Given the description of an element on the screen output the (x, y) to click on. 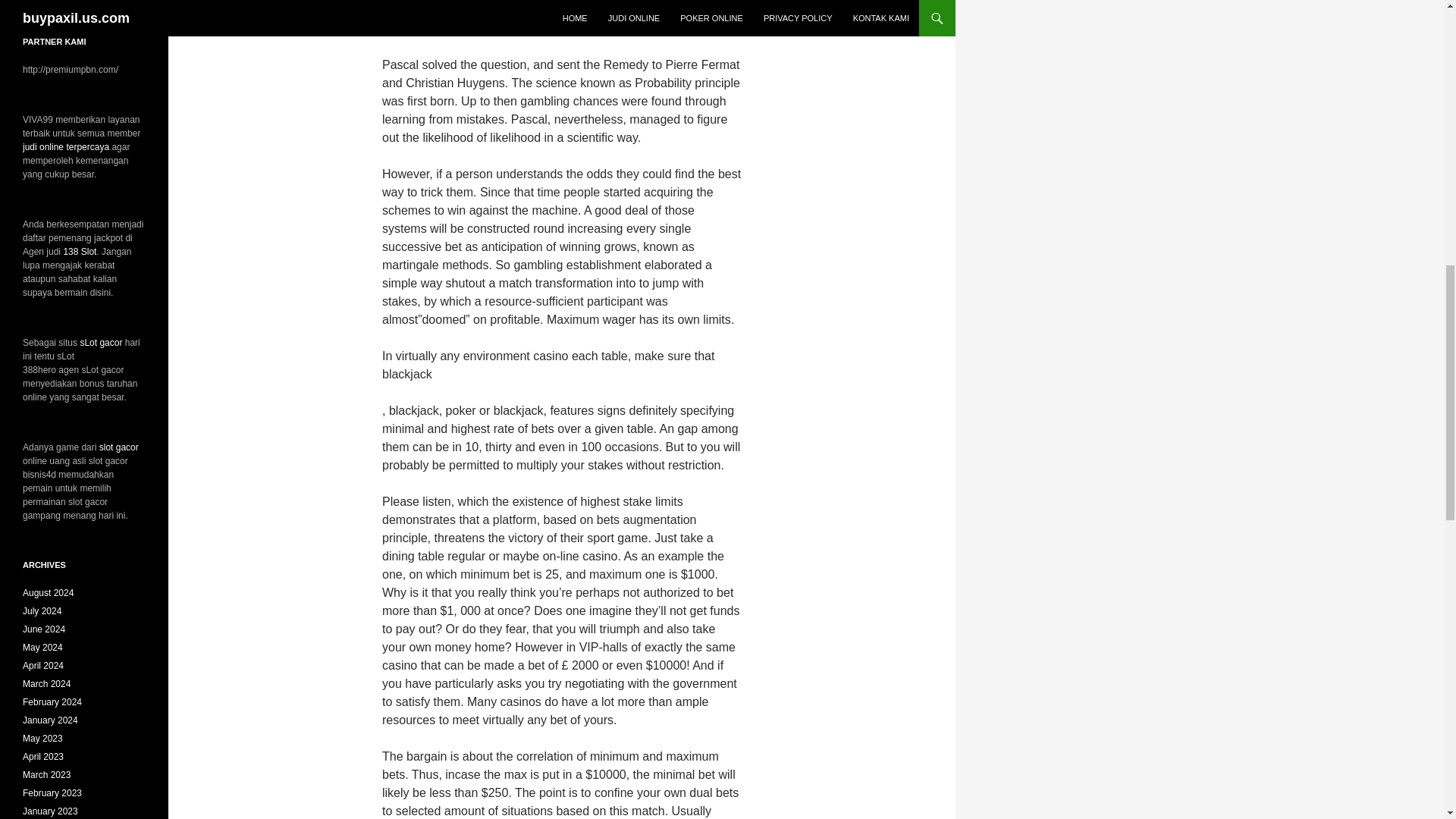
judi online terpercaya (66, 146)
sLot gacor (101, 342)
August 2024 (48, 593)
February 2024 (52, 701)
March 2024 (46, 683)
slot gacor (118, 447)
May 2024 (42, 647)
April 2024 (43, 665)
June 2024 (44, 629)
138 Slot (79, 251)
July 2024 (42, 611)
